Given the description of an element on the screen output the (x, y) to click on. 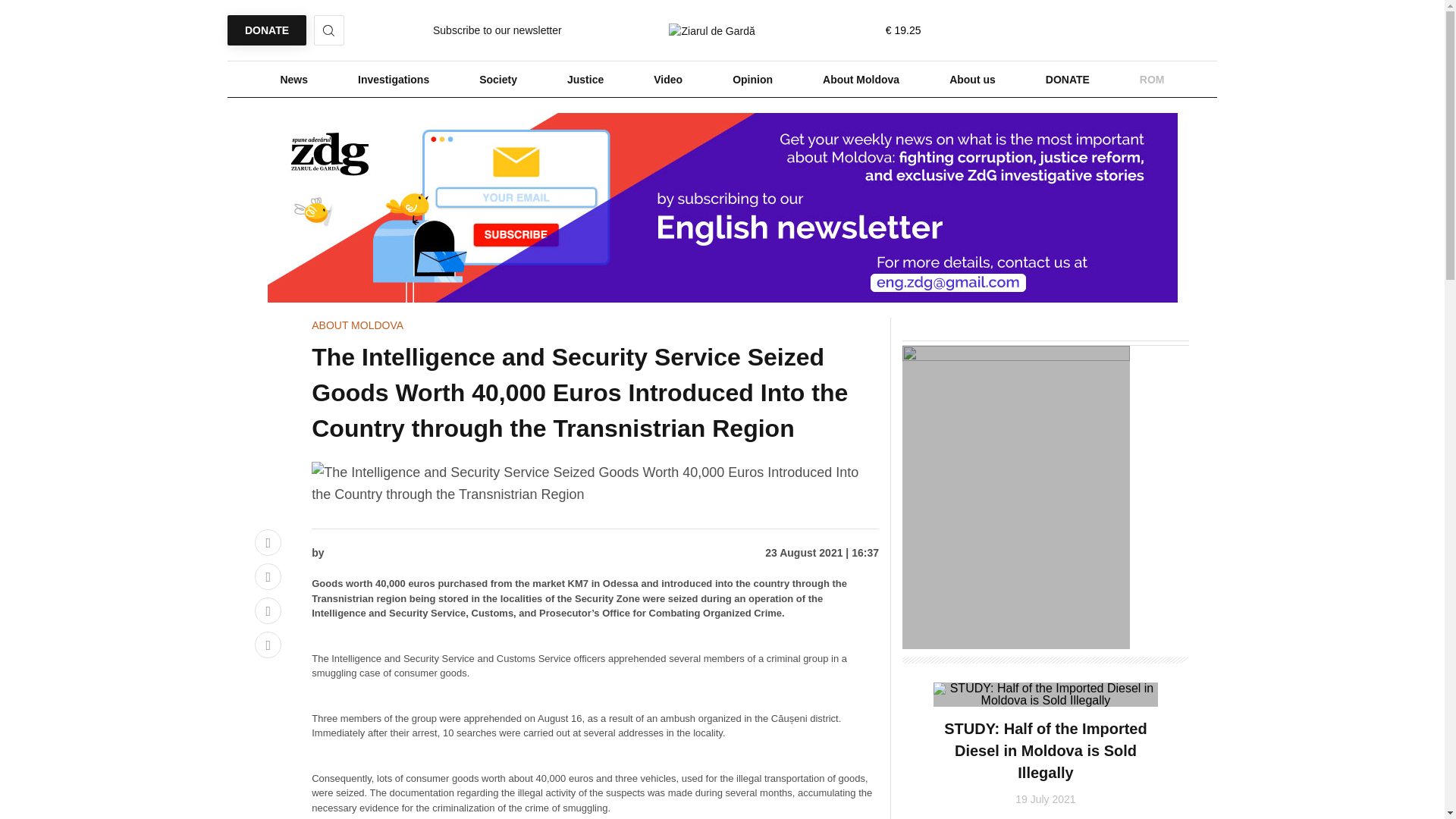
DONATE (1067, 79)
ABOUT MOLDOVA (357, 325)
Video (668, 79)
Opinion (752, 79)
Investigations (393, 79)
ROM (1151, 79)
News (293, 79)
DONATE (266, 30)
Subscribe to our newsletter (497, 29)
